Given the description of an element on the screen output the (x, y) to click on. 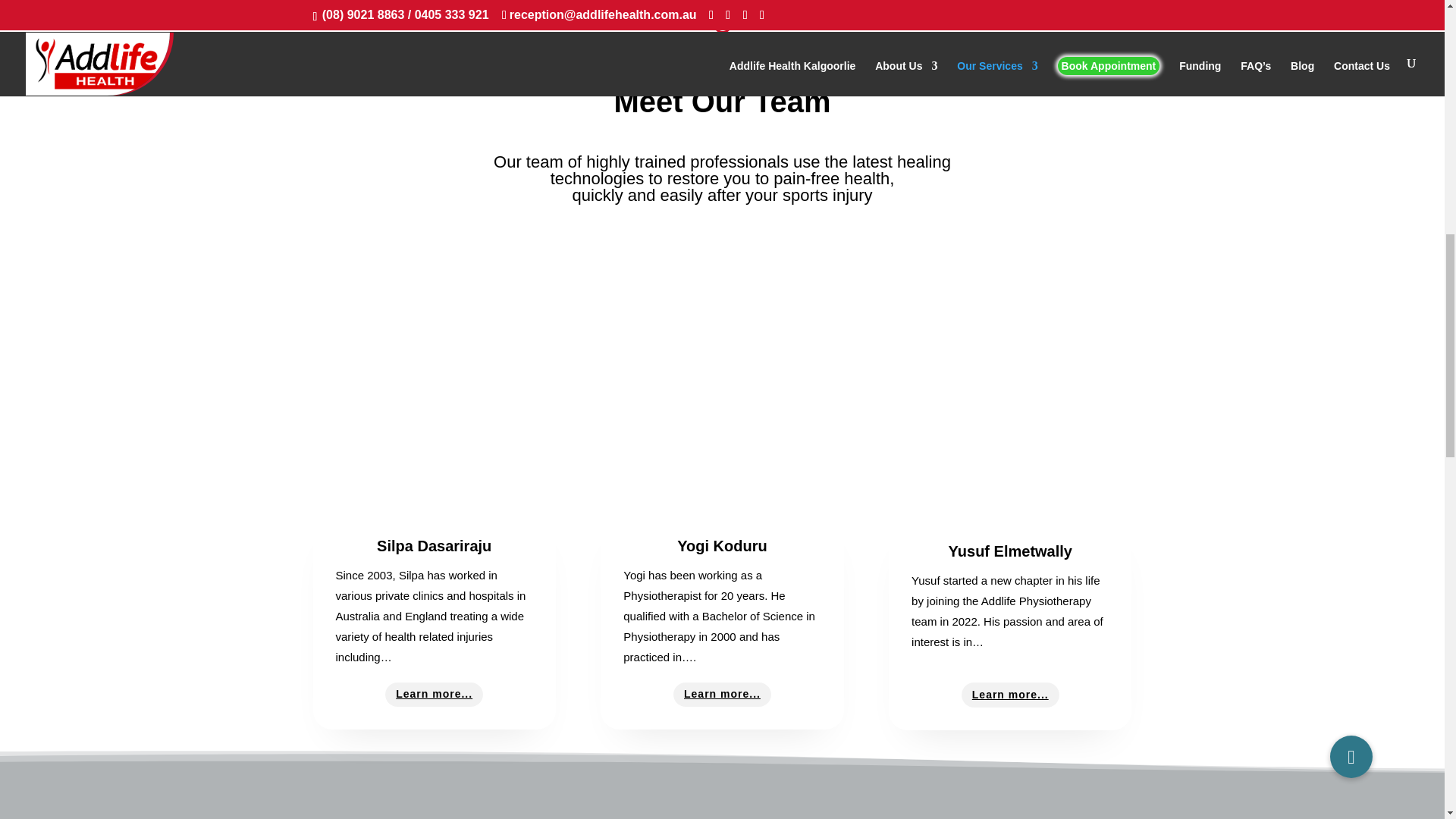
kalgoorlie-addlife-health-team-2 (721, 31)
